Given the description of an element on the screen output the (x, y) to click on. 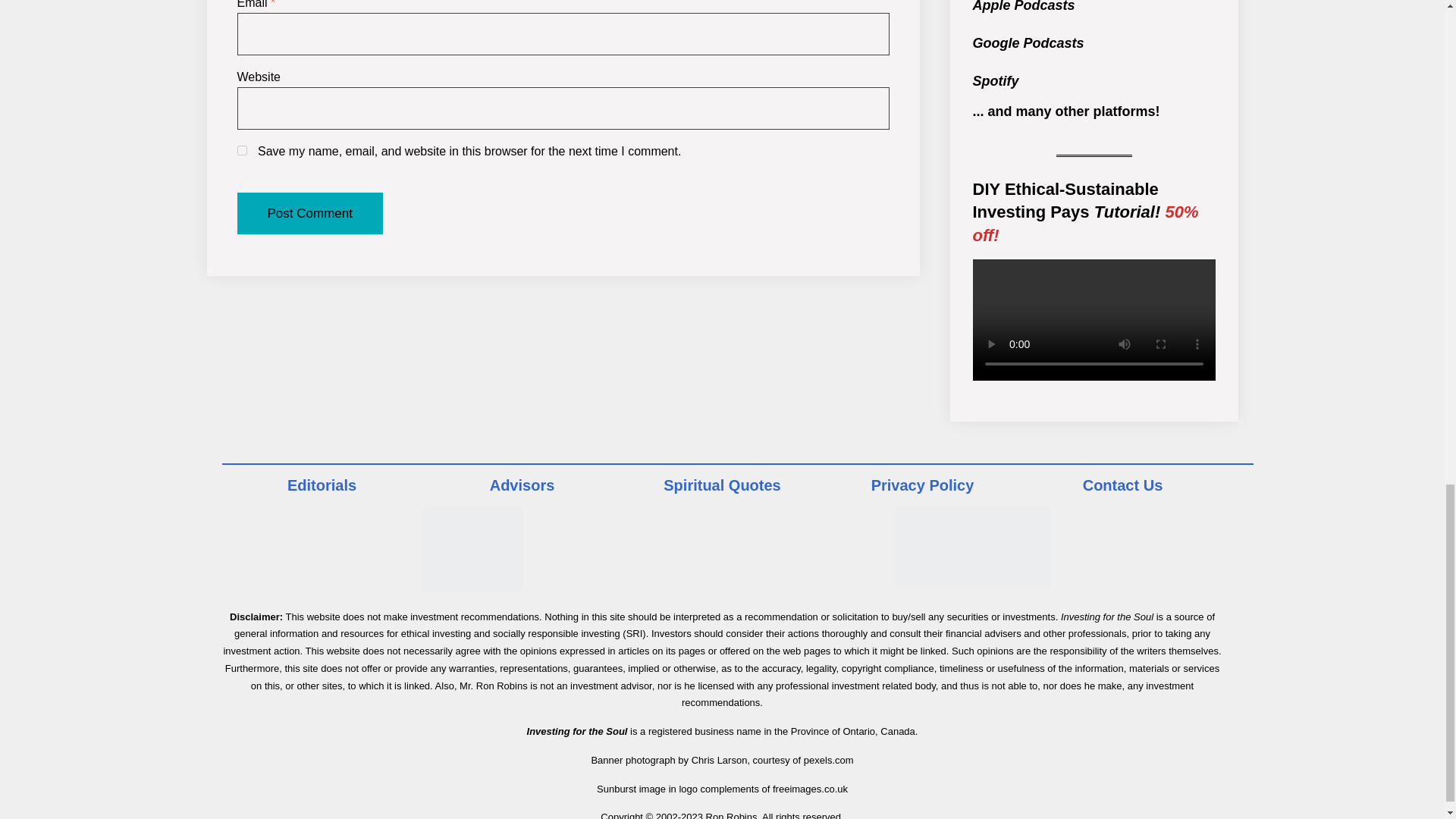
Post Comment (308, 213)
Apple Podcasts (1023, 6)
Spotify (994, 80)
Post Comment (308, 213)
Advisors (521, 484)
Editorials (321, 484)
yes (240, 150)
Google Podcasts (1027, 43)
